Given the description of an element on the screen output the (x, y) to click on. 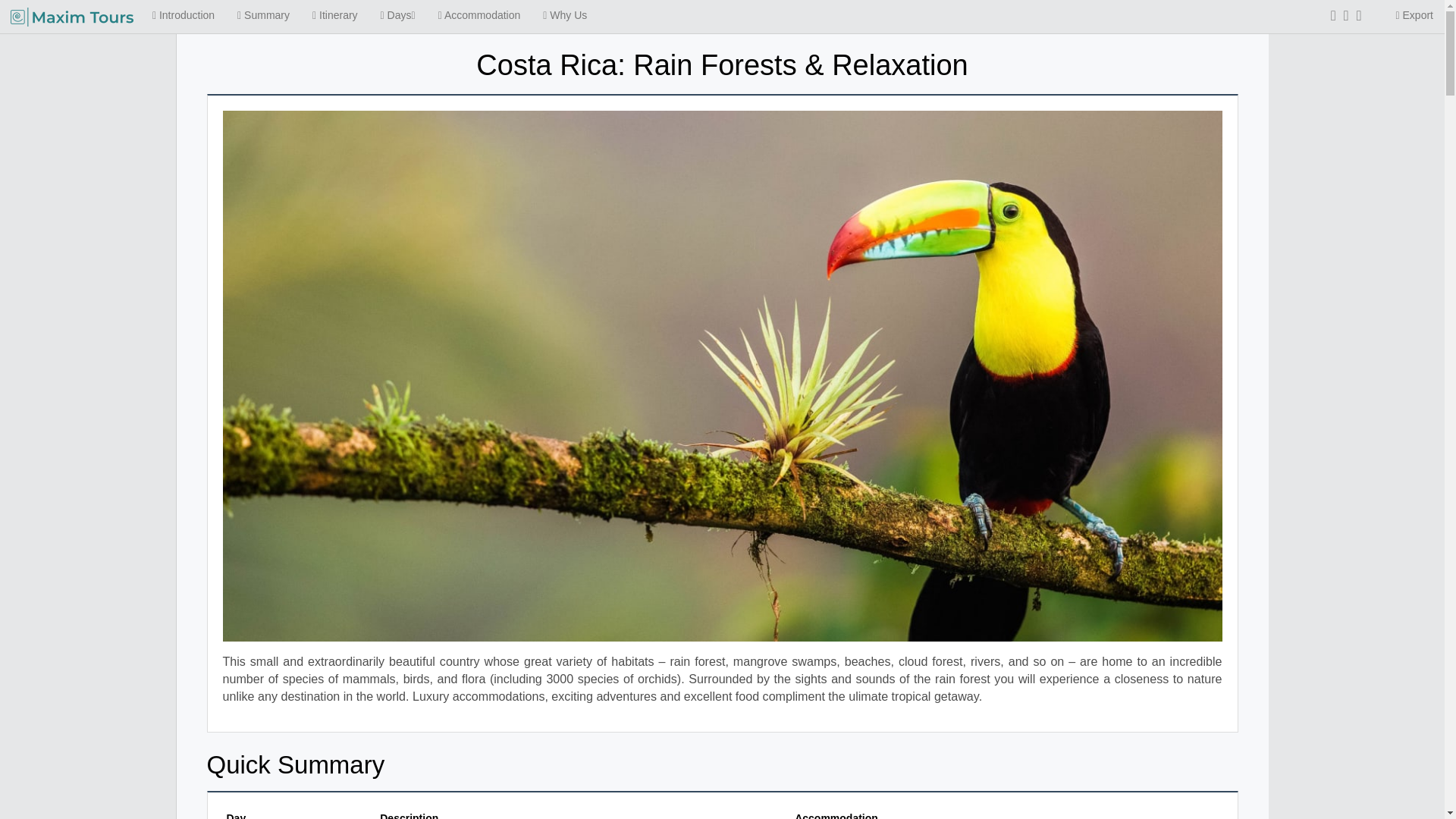
Days (397, 15)
Accommodation (479, 15)
Summary (263, 15)
Introduction (183, 15)
Why Us (564, 15)
Itinerary (335, 15)
